Given the description of an element on the screen output the (x, y) to click on. 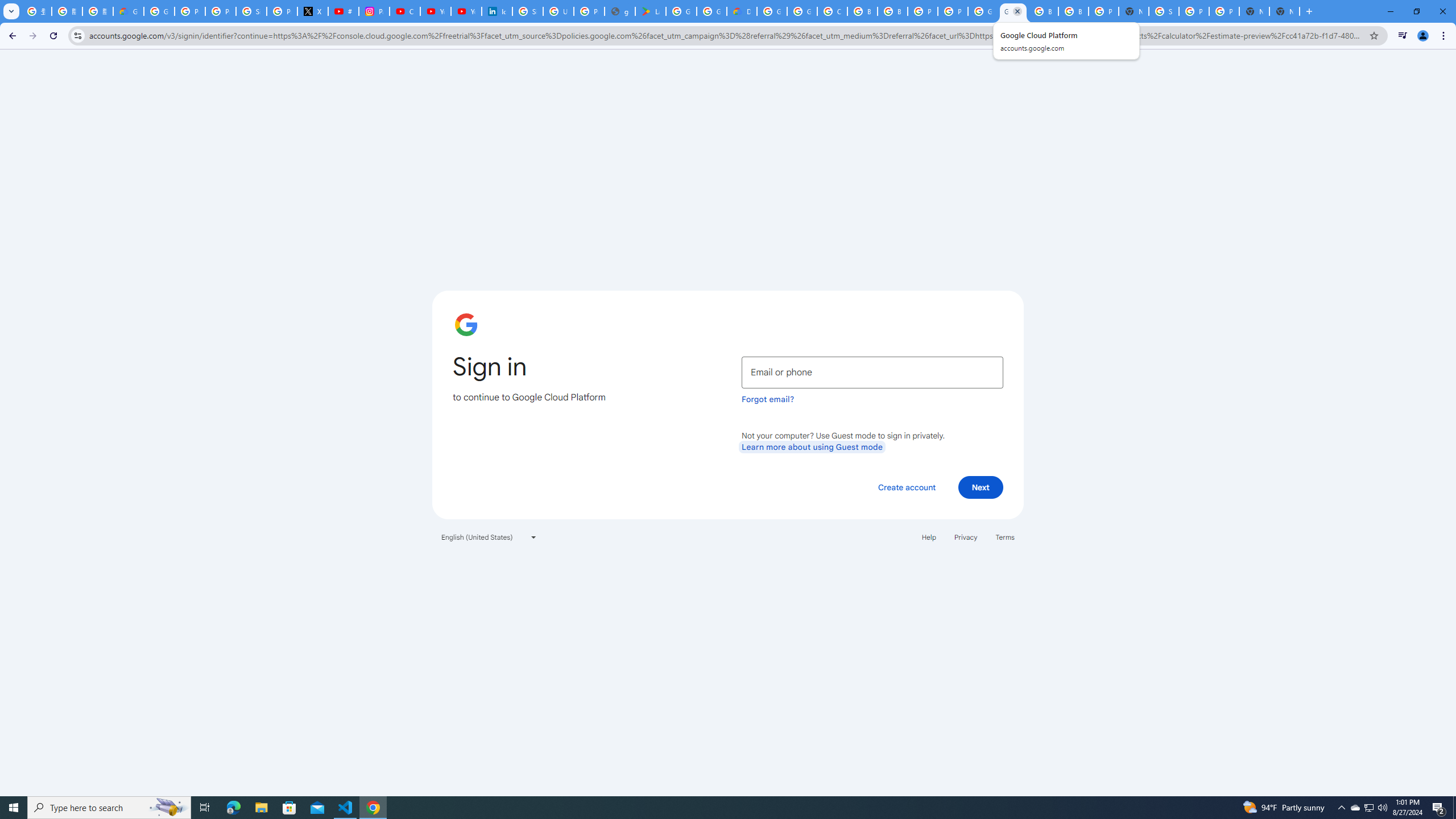
Last Shelter: Survival - Apps on Google Play (650, 11)
Email or phone (872, 372)
Learn more about using Guest mode (812, 446)
Sign in - Google Accounts (527, 11)
Browse Chrome as a guest - Computer - Google Chrome Help (1072, 11)
#nbabasketballhighlights - YouTube (343, 11)
Google Cloud Platform (771, 11)
Browse Chrome as a guest - Computer - Google Chrome Help (862, 11)
